Given the description of an element on the screen output the (x, y) to click on. 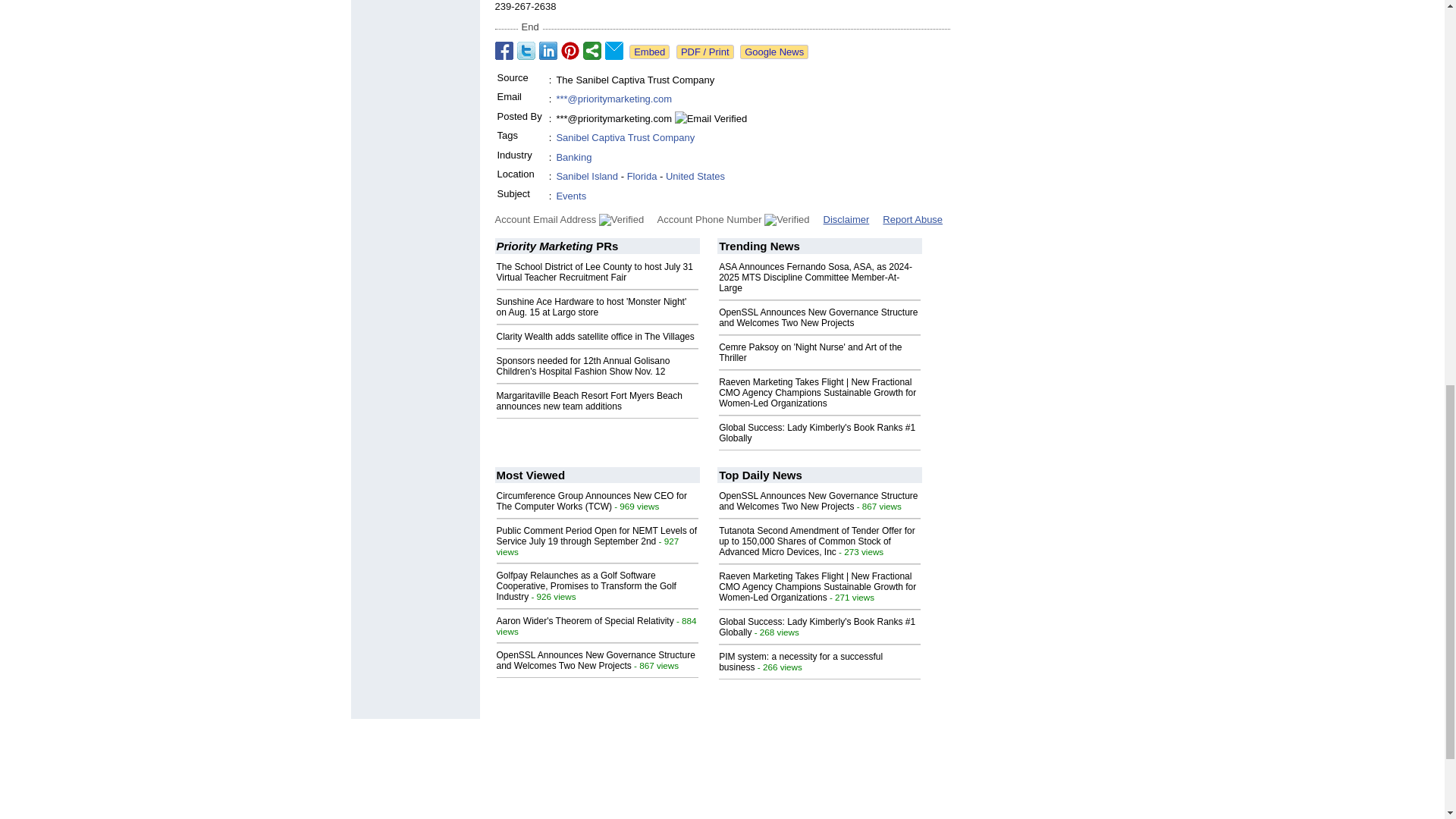
Email Verified (710, 118)
Embed (648, 51)
Verified (786, 219)
Share on Pinterest (569, 50)
Verified (620, 219)
Share on LinkedIn (547, 50)
Share on Facebook (503, 50)
Email to a Friend (614, 50)
Share on StumbleUpon, Digg, etc (590, 50)
See or print the PDF version! (705, 51)
Share on Twitter (525, 50)
Embed this press release in your website! (648, 51)
